Given the description of an element on the screen output the (x, y) to click on. 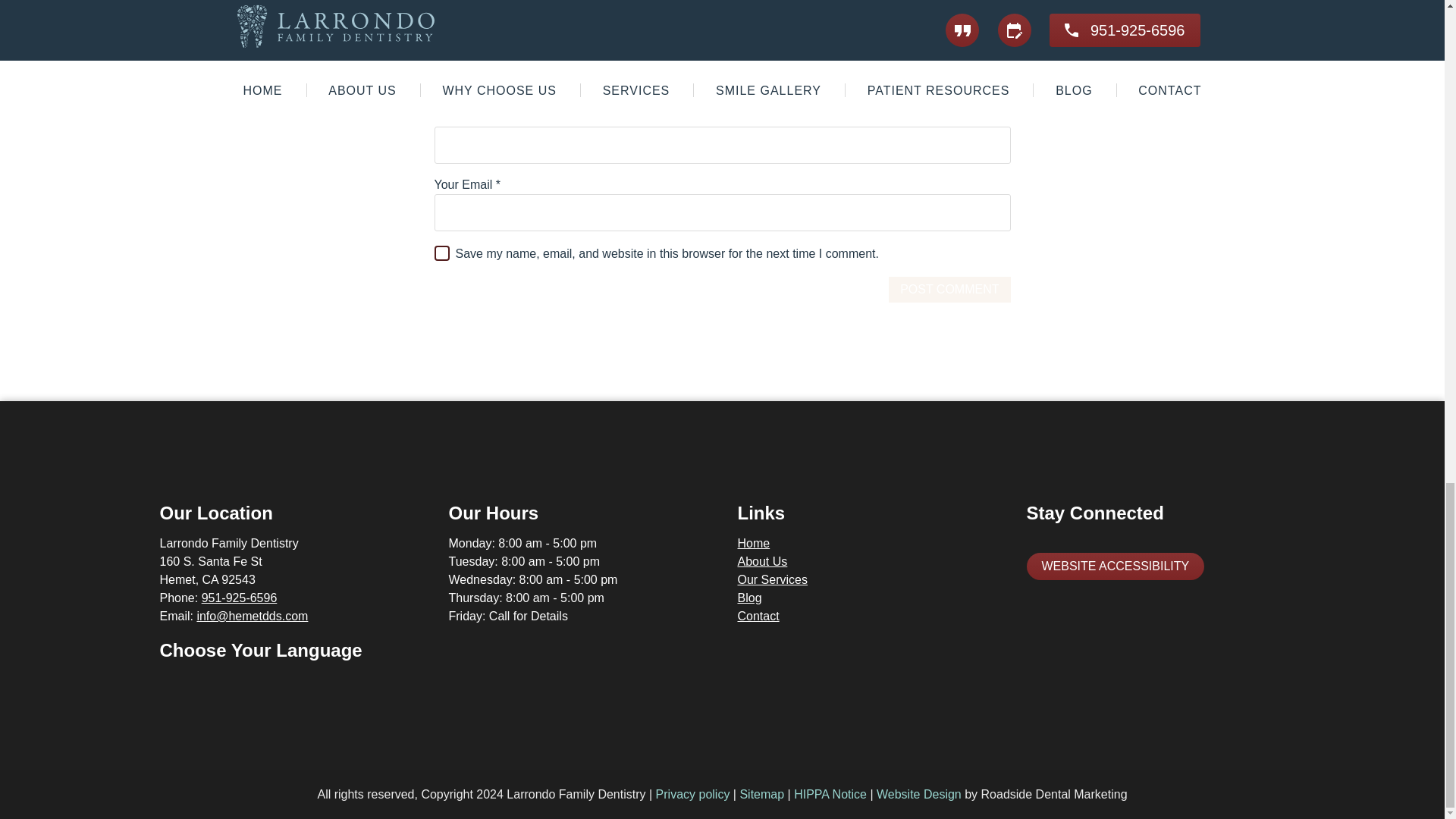
Post Comment (949, 289)
Home (753, 543)
951-925-6596 (240, 597)
Post Comment (949, 289)
About Us (761, 561)
